Given the description of an element on the screen output the (x, y) to click on. 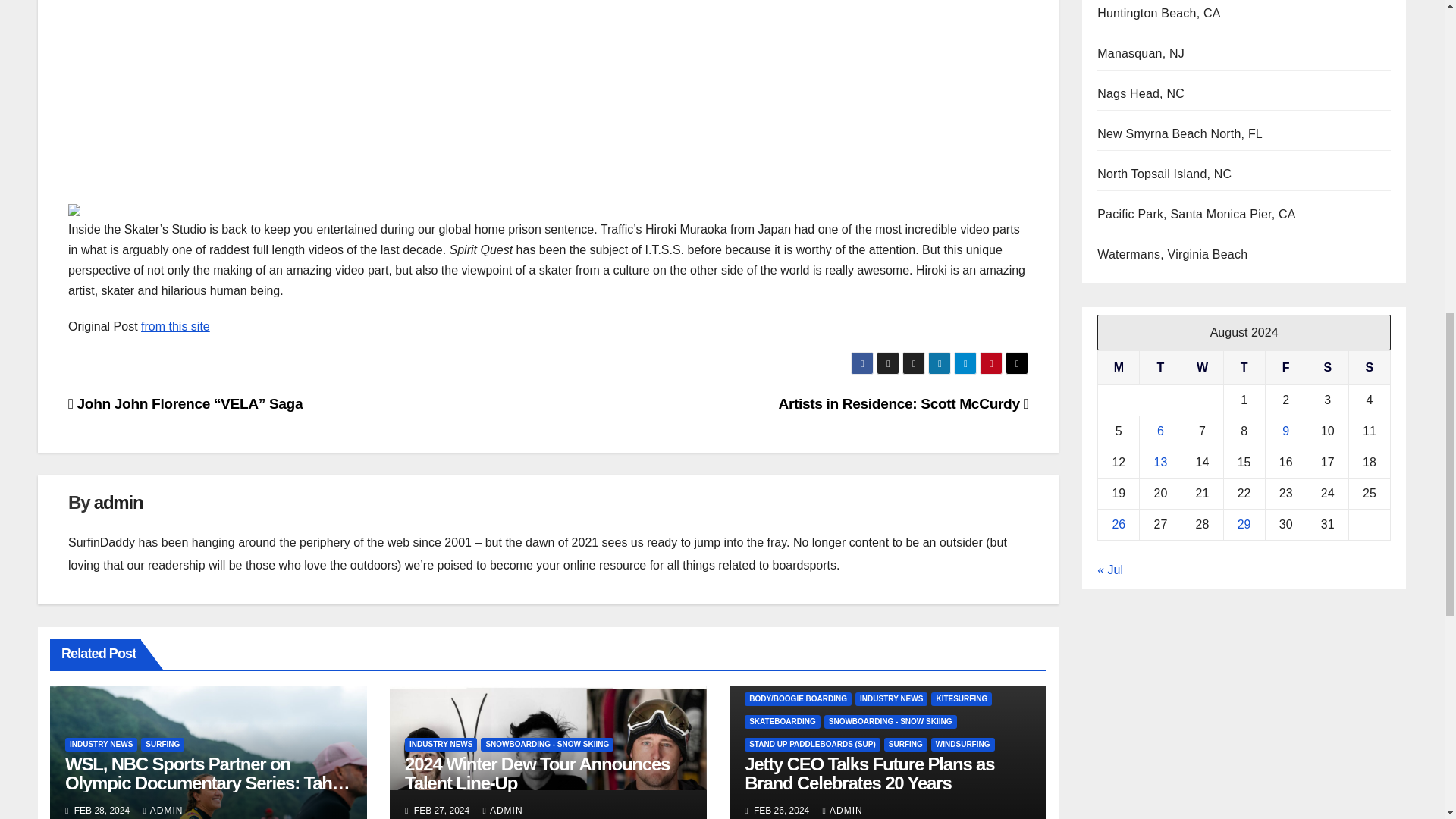
Artists in Residence: Scott McCurdy (903, 403)
ADMIN (162, 810)
SURFING (162, 744)
from this site (175, 326)
INDUSTRY NEWS (100, 744)
Permalink to: 2024 Winter Dew Tour Announces Talent Line-Up (536, 773)
admin (118, 502)
